Given the description of an element on the screen output the (x, y) to click on. 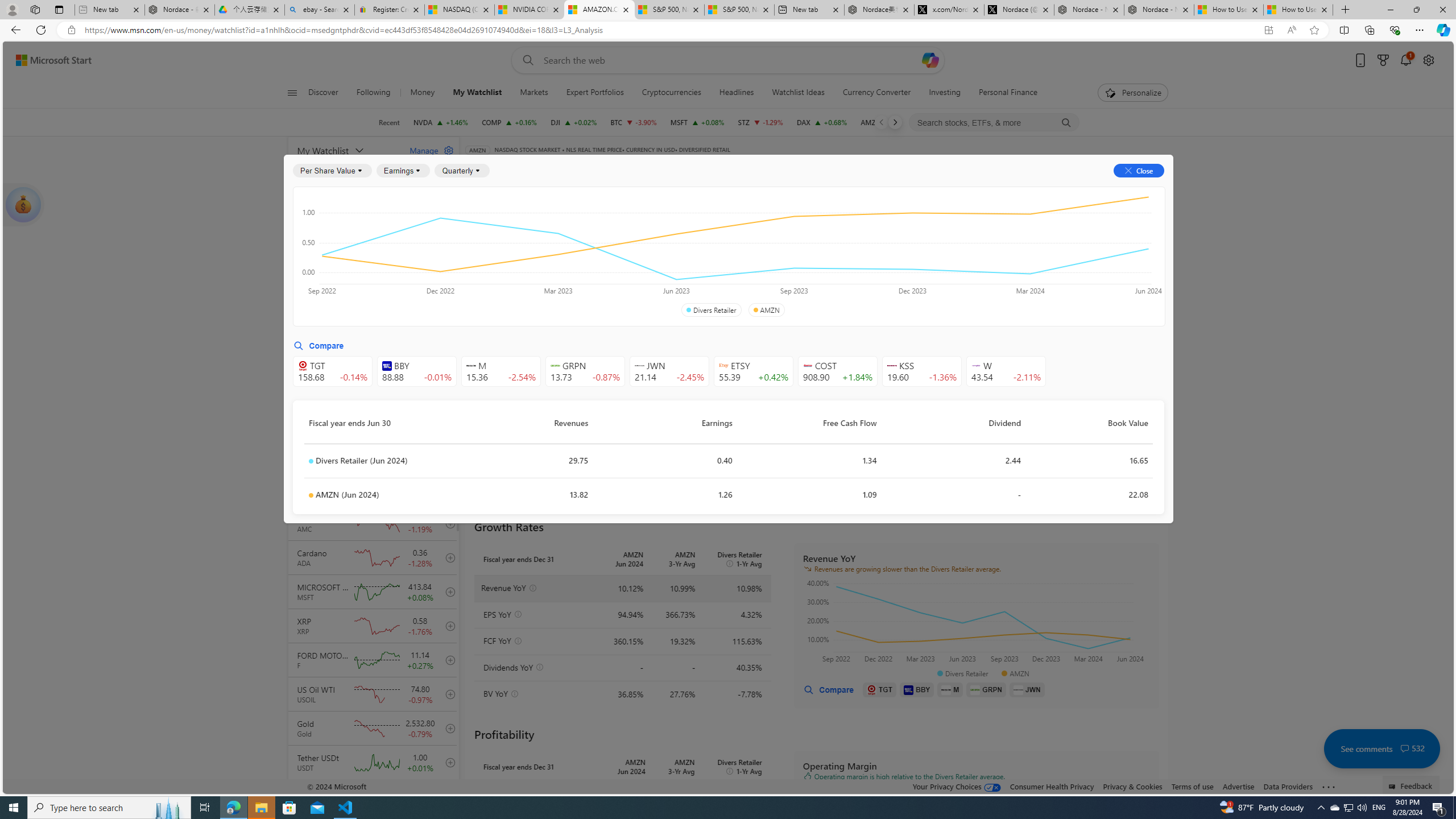
Class: button-glyph (292, 92)
See comments 532 (1381, 748)
Following (373, 92)
STZ CONSTELLATION BRANDS, INC. decrease 239.98 -3.13 -1.29% (760, 122)
Key Ratios (493, 223)
Open Copilot (930, 59)
Add this page to favorites (Ctrl+D) (1314, 29)
Previous (881, 122)
Split screen (1344, 29)
Efficiency (850, 253)
S&P 500, Nasdaq end lower, weighed by Nvidia dip | Watch (738, 9)
Back (13, 29)
